Given the description of an element on the screen output the (x, y) to click on. 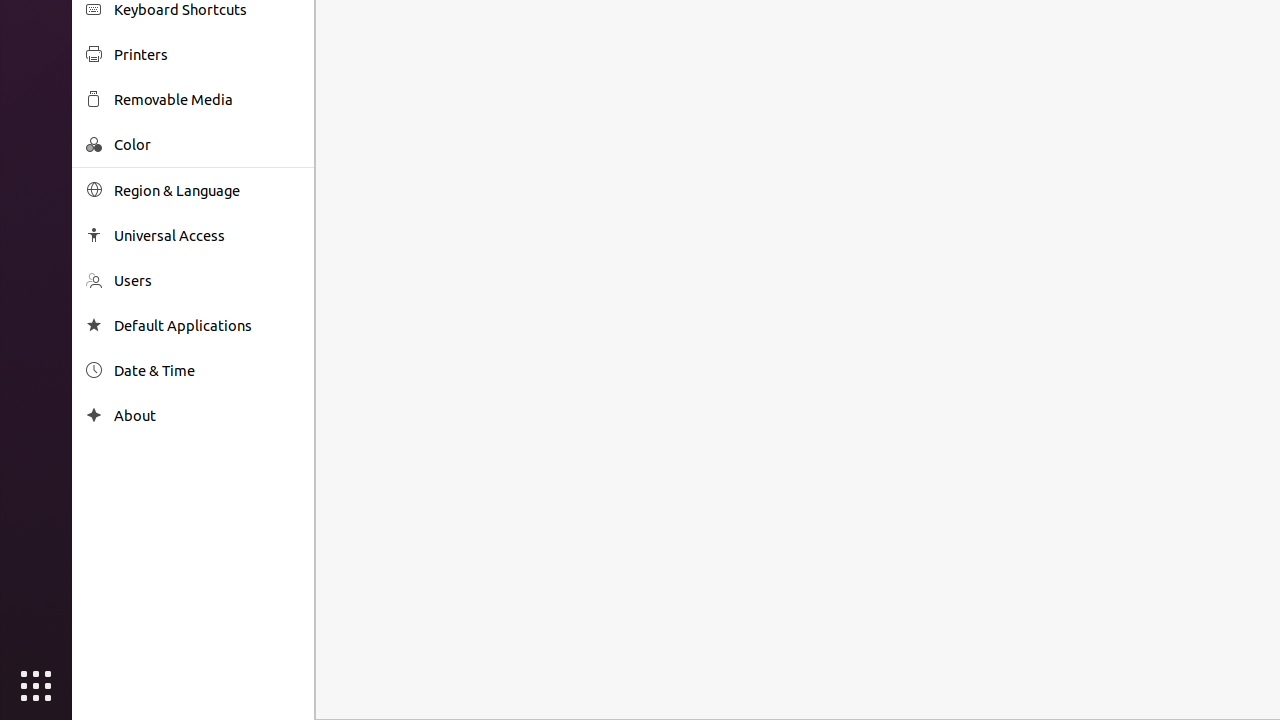
Printers Element type: label (207, 54)
Color Element type: label (207, 144)
